Given the description of an element on the screen output the (x, y) to click on. 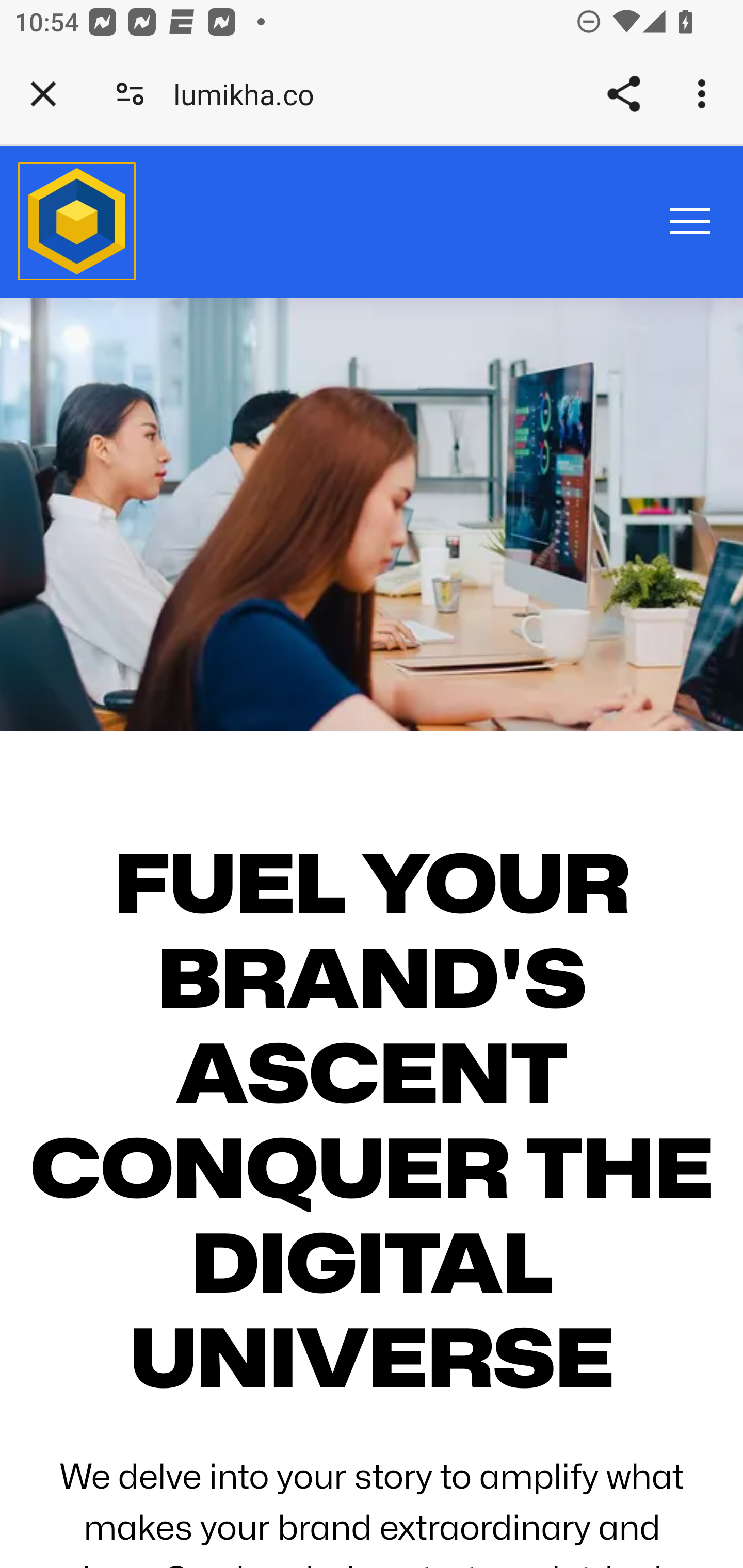
Close tab (43, 93)
Share (623, 93)
Customize and control Google Chrome (705, 93)
Connection is secure (129, 93)
lumikha.co (250, 93)
